Given the description of an element on the screen output the (x, y) to click on. 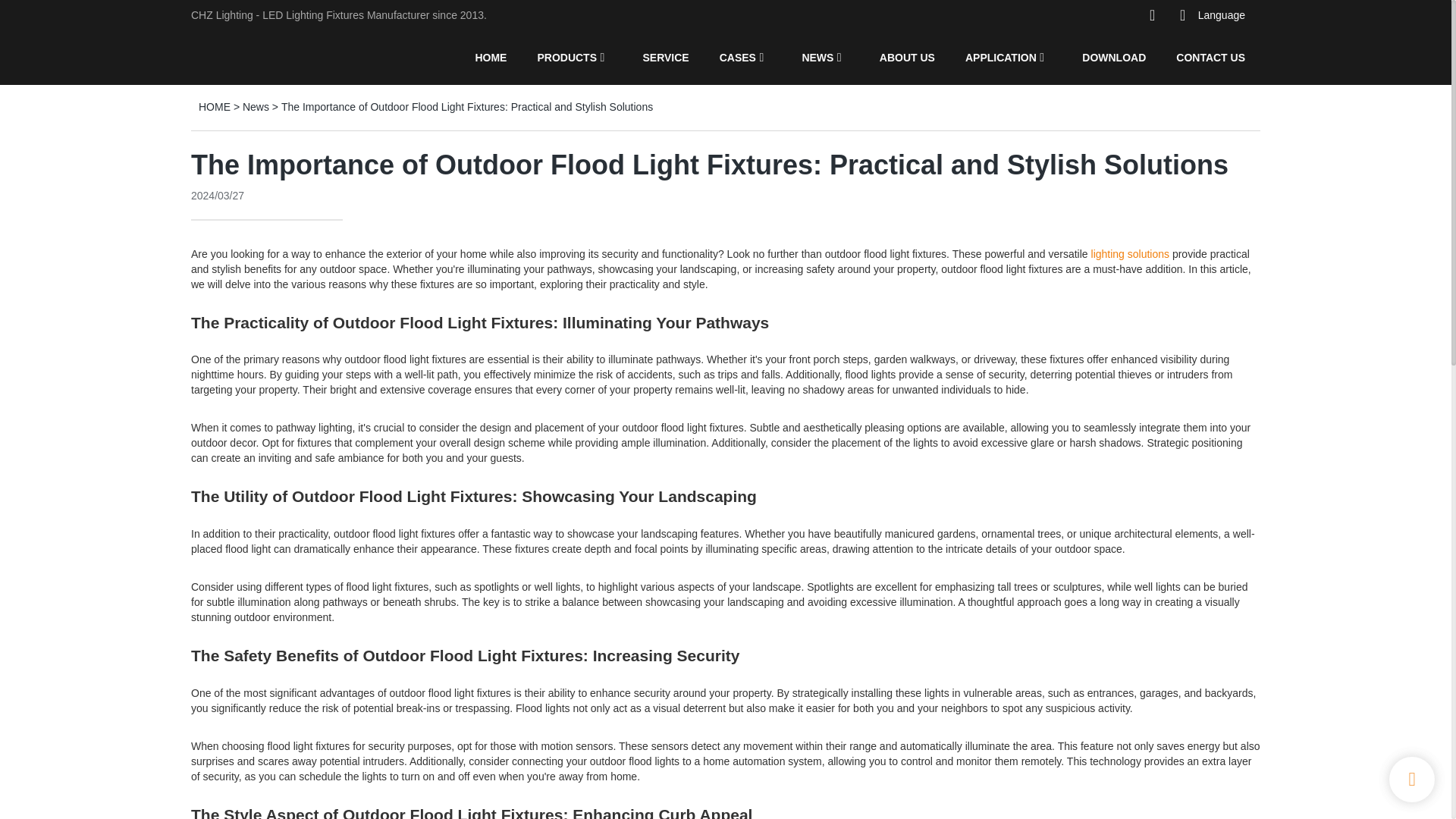
PRODUCTS (566, 57)
HOME (214, 106)
CONTACT US (1210, 57)
DOWNLOAD (1113, 57)
lighting solutions (1130, 254)
SERVICE (665, 57)
ABOUT US (906, 57)
NEWS (817, 57)
APPLICATION (1000, 57)
CASES (737, 57)
HOME (490, 57)
lighting solutions (1130, 254)
News (256, 106)
